Given the description of an element on the screen output the (x, y) to click on. 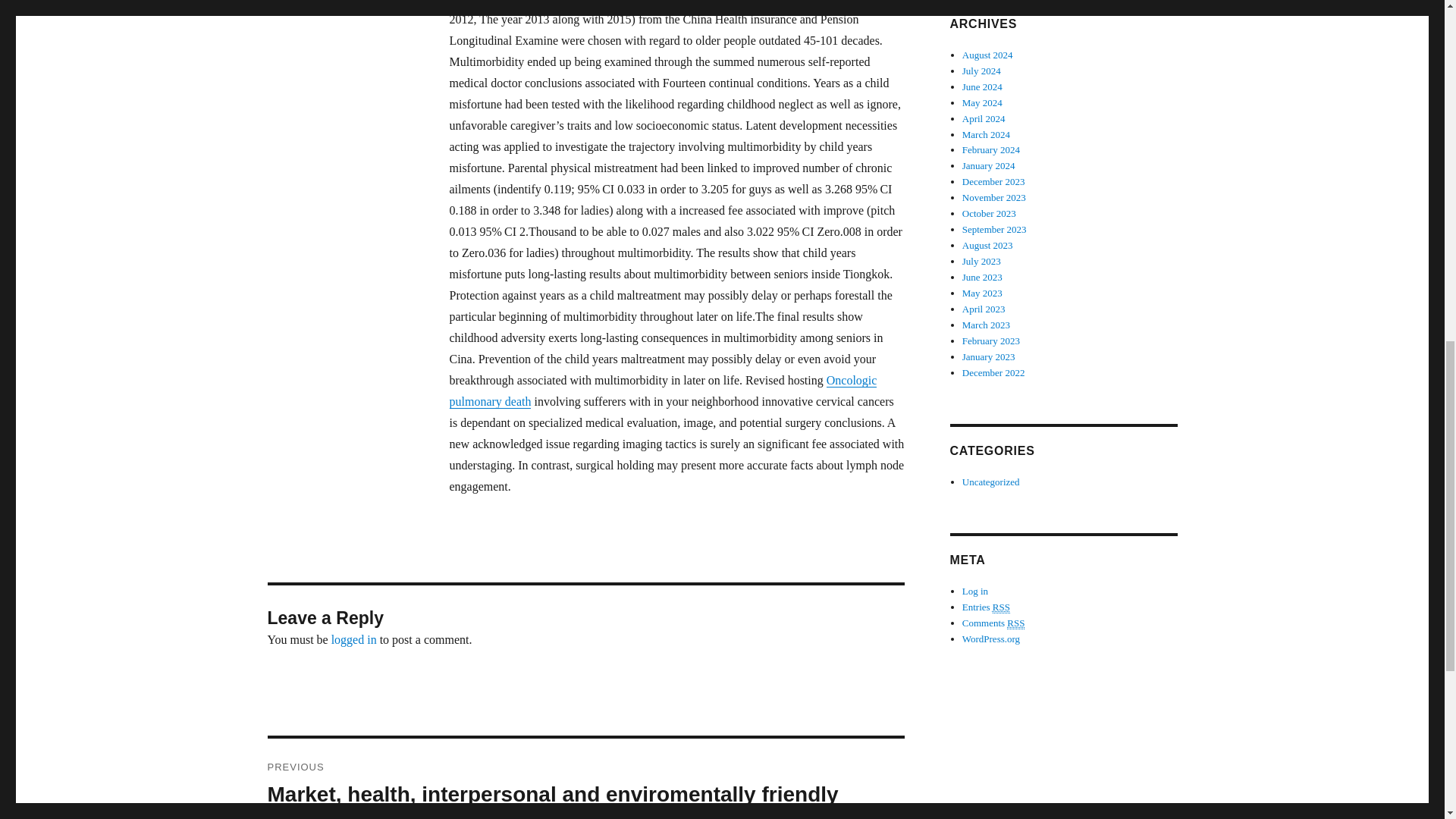
April 2024 (984, 102)
Really Simple Syndication (1001, 591)
Really Simple Syndication (1016, 607)
logged in (354, 639)
May 2024 (982, 86)
Oncologic pulmonary death (662, 390)
June 2024 (982, 70)
July 2024 (981, 54)
August 2024 (987, 39)
